Given the description of an element on the screen output the (x, y) to click on. 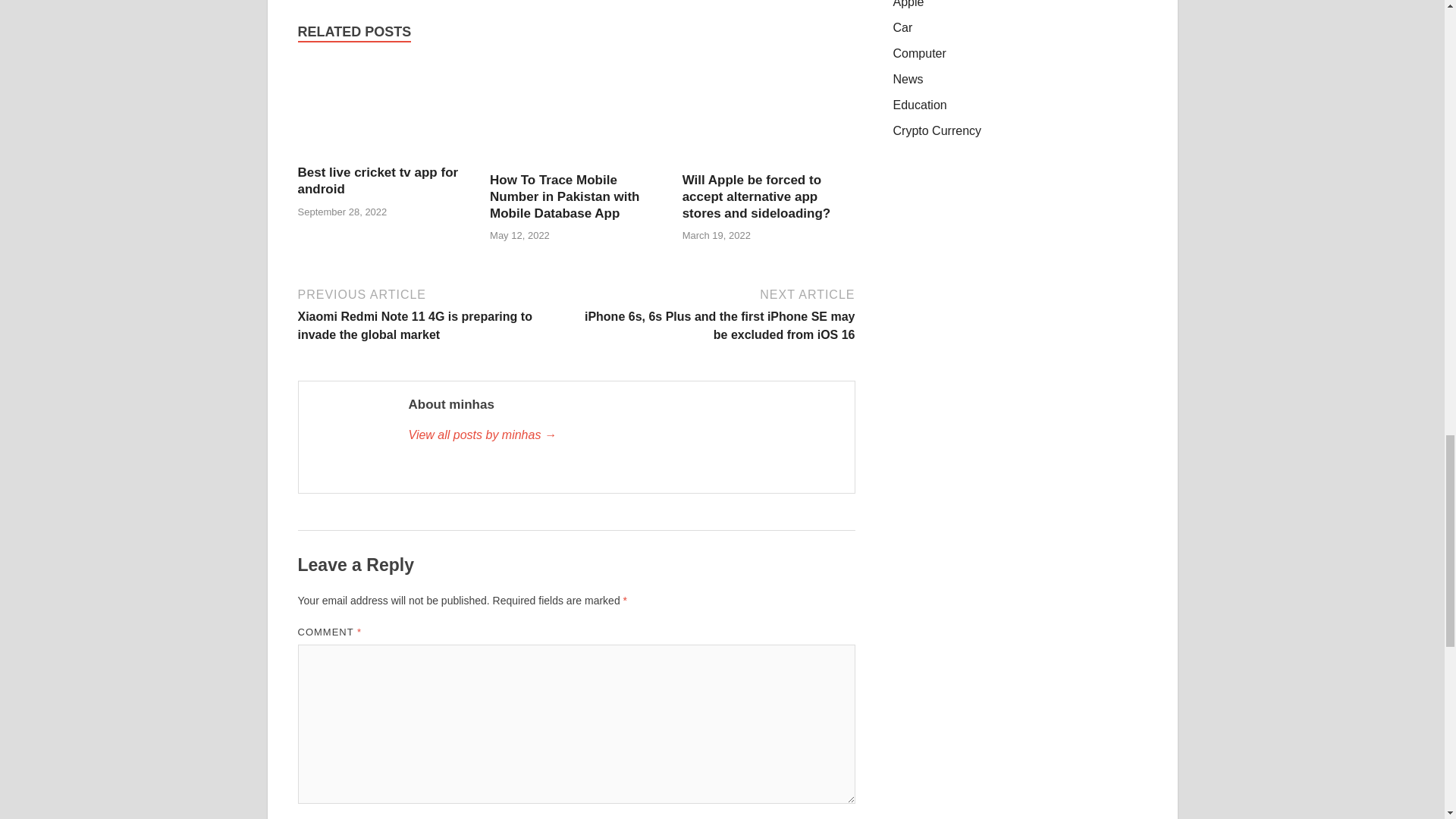
Best live cricket tv app for android (377, 180)
Best live cricket tv app for android (383, 154)
minhas (622, 434)
